Given the description of an element on the screen output the (x, y) to click on. 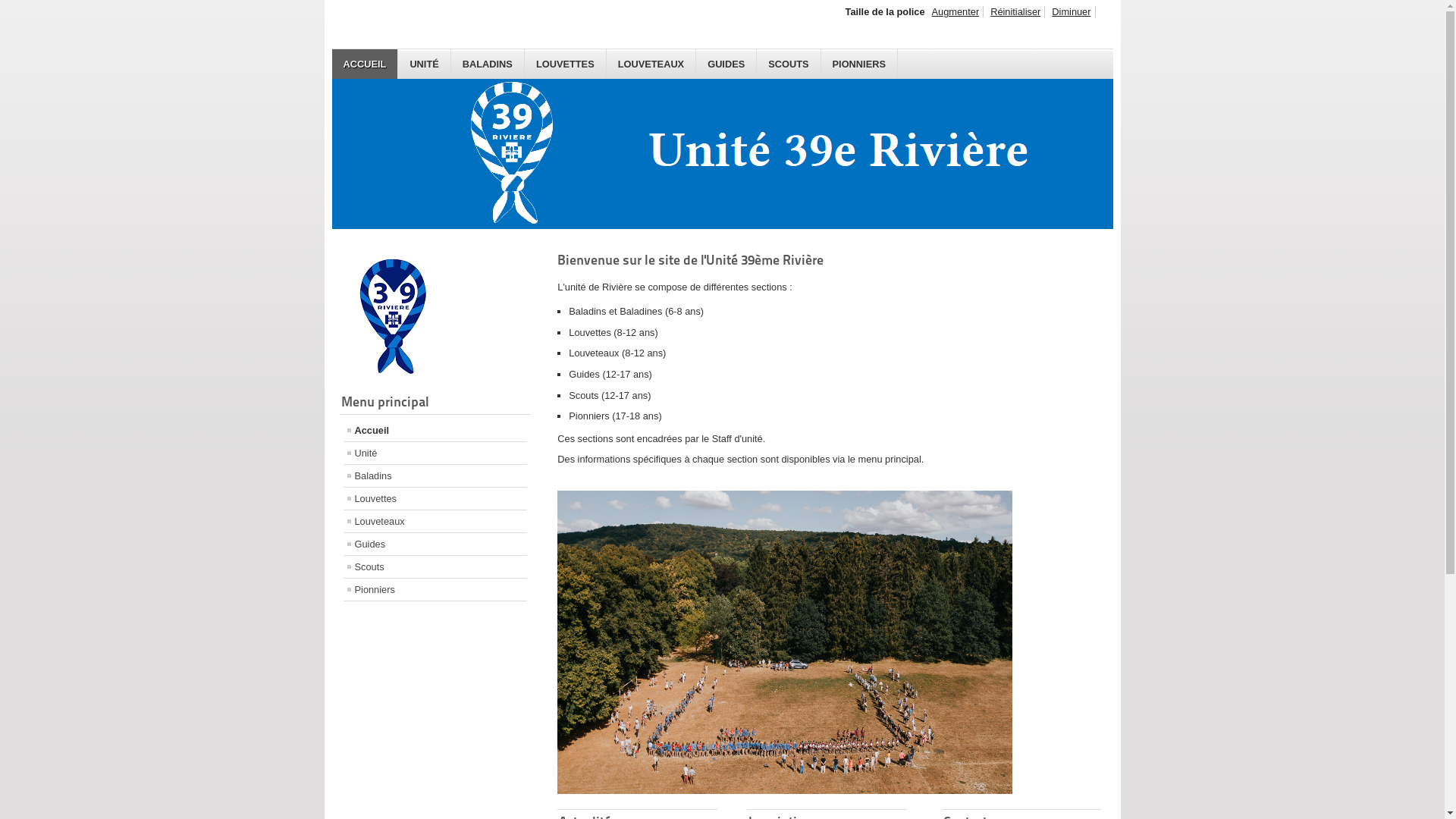
SCOUTS Element type: text (788, 63)
Scouts Element type: text (434, 566)
Augmenter Element type: text (956, 11)
GUIDES Element type: text (726, 63)
BALADINS Element type: text (487, 63)
Diminuer Element type: text (1071, 11)
Louveteaux Element type: text (434, 521)
PIONNIERS Element type: text (859, 63)
LOUVETEAUX Element type: text (651, 63)
LOUVETTES Element type: text (565, 63)
Guides Element type: text (434, 544)
Accueil Element type: text (434, 430)
Louvettes Element type: text (434, 498)
ACCUEIL Element type: text (365, 63)
Pionniers Element type: text (434, 589)
Baladins Element type: text (434, 475)
